Given the description of an element on the screen output the (x, y) to click on. 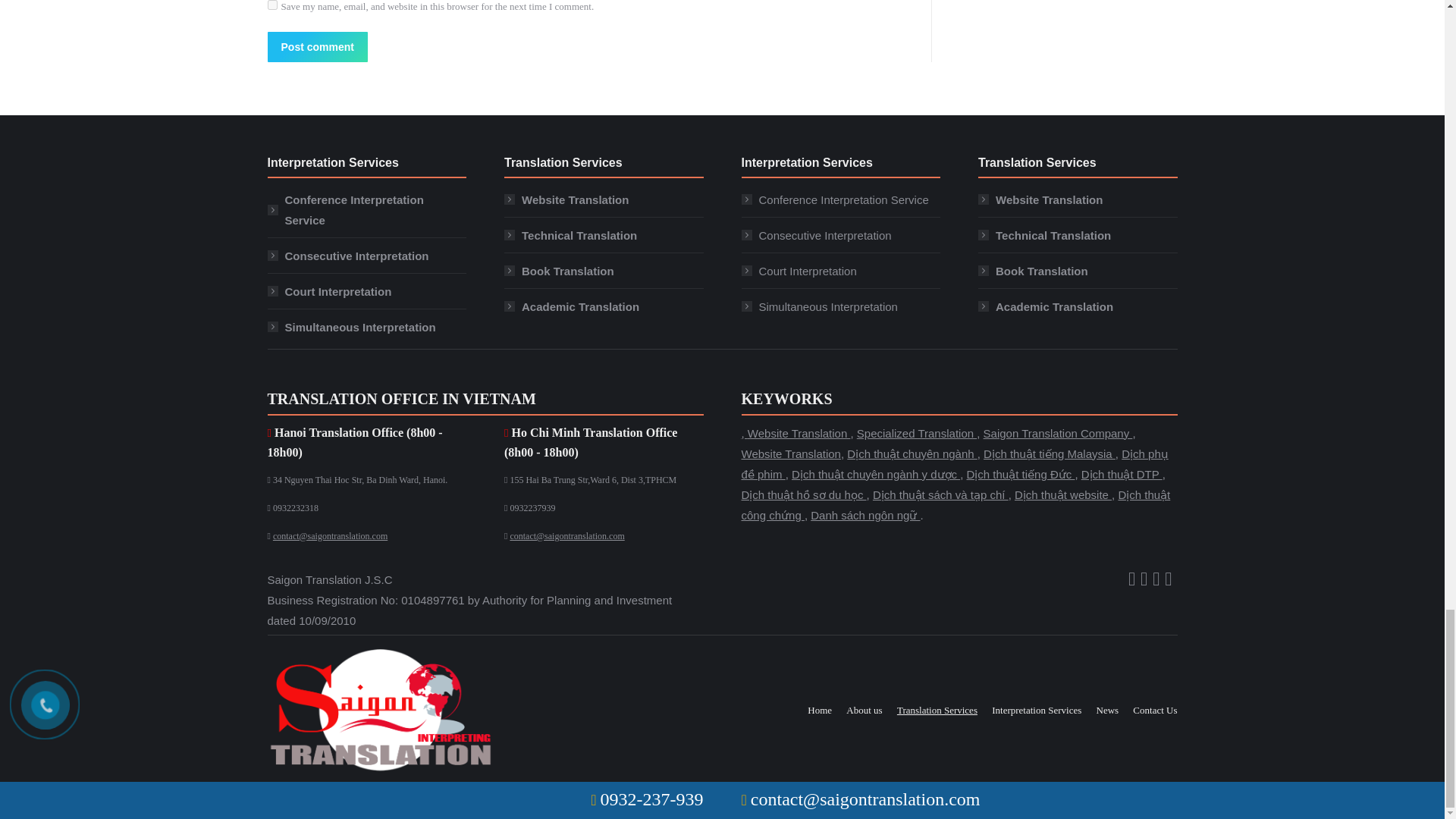
yes (271, 4)
